Given the description of an element on the screen output the (x, y) to click on. 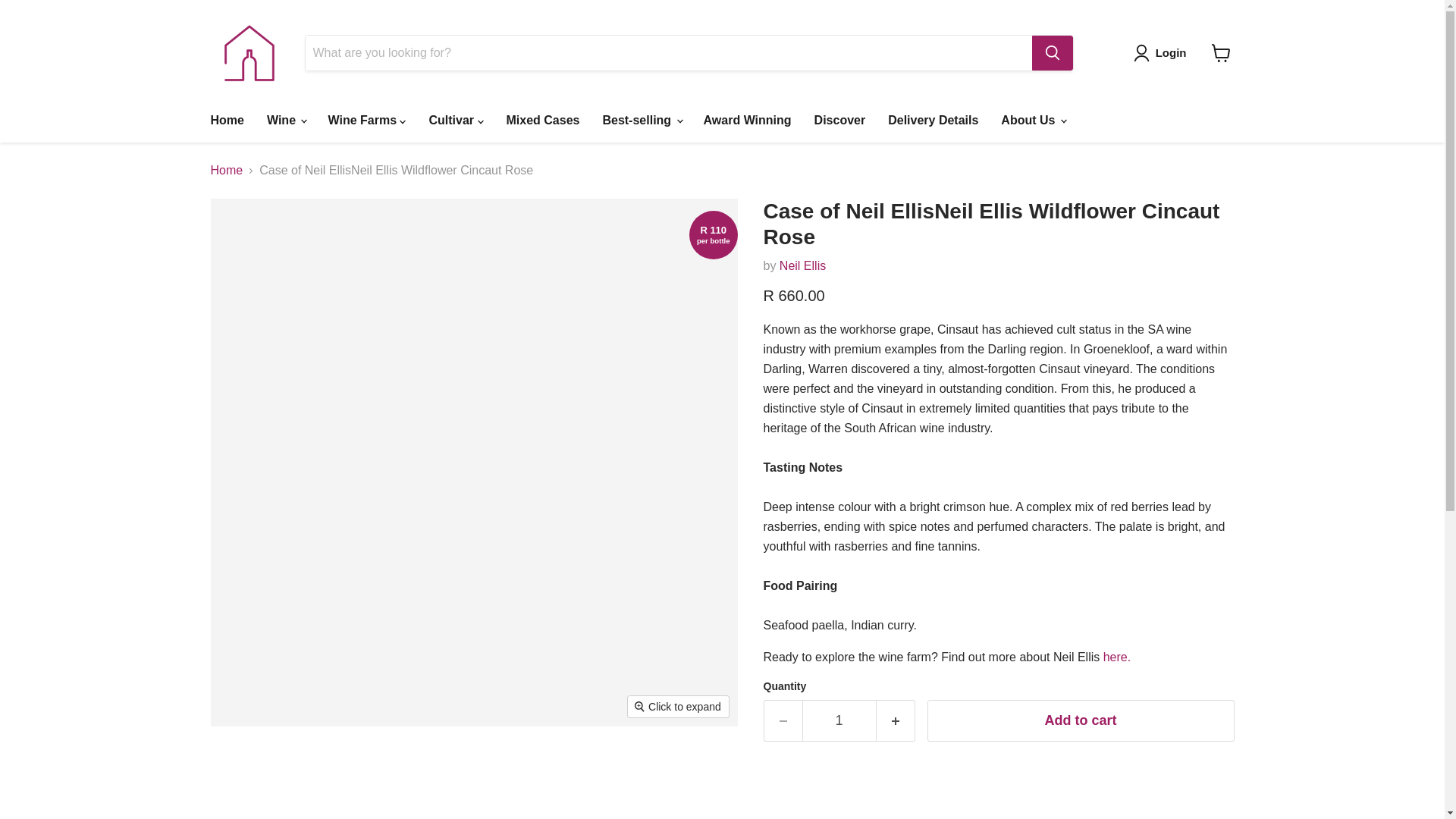
Login (1163, 53)
Home (226, 120)
1 (839, 721)
Neil Ellis wine farm (1117, 656)
View cart (1221, 52)
Neil Ellis (801, 265)
